Given the description of an element on the screen output the (x, y) to click on. 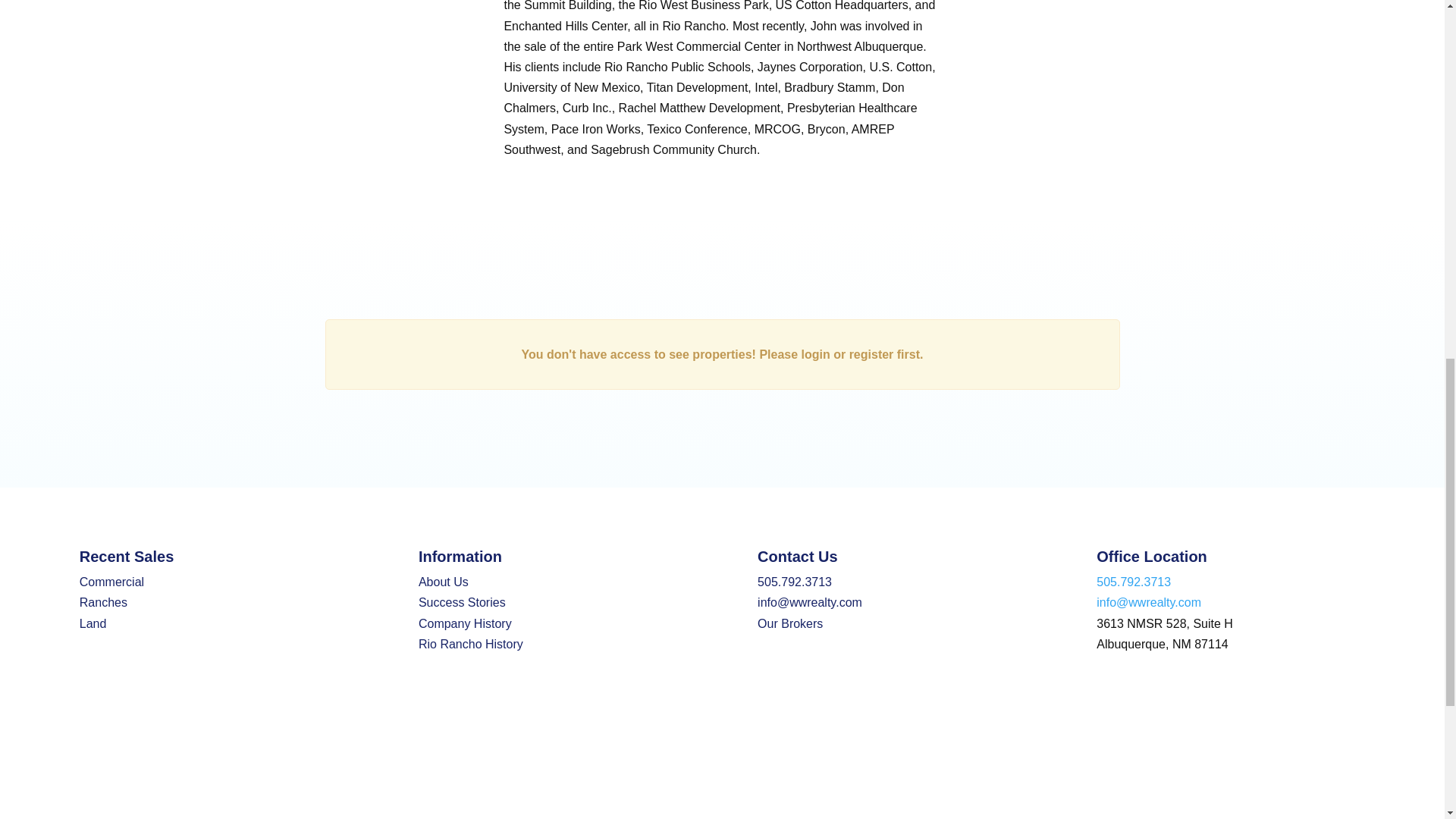
Company History (465, 623)
Rio Rancho History (470, 644)
Success Stories (462, 602)
505.792.3713 (794, 581)
About Us (443, 581)
Ranches (104, 602)
505.792.3713 (1133, 581)
Our Brokers (789, 623)
Land (93, 623)
Commercial (112, 581)
